Given the description of an element on the screen output the (x, y) to click on. 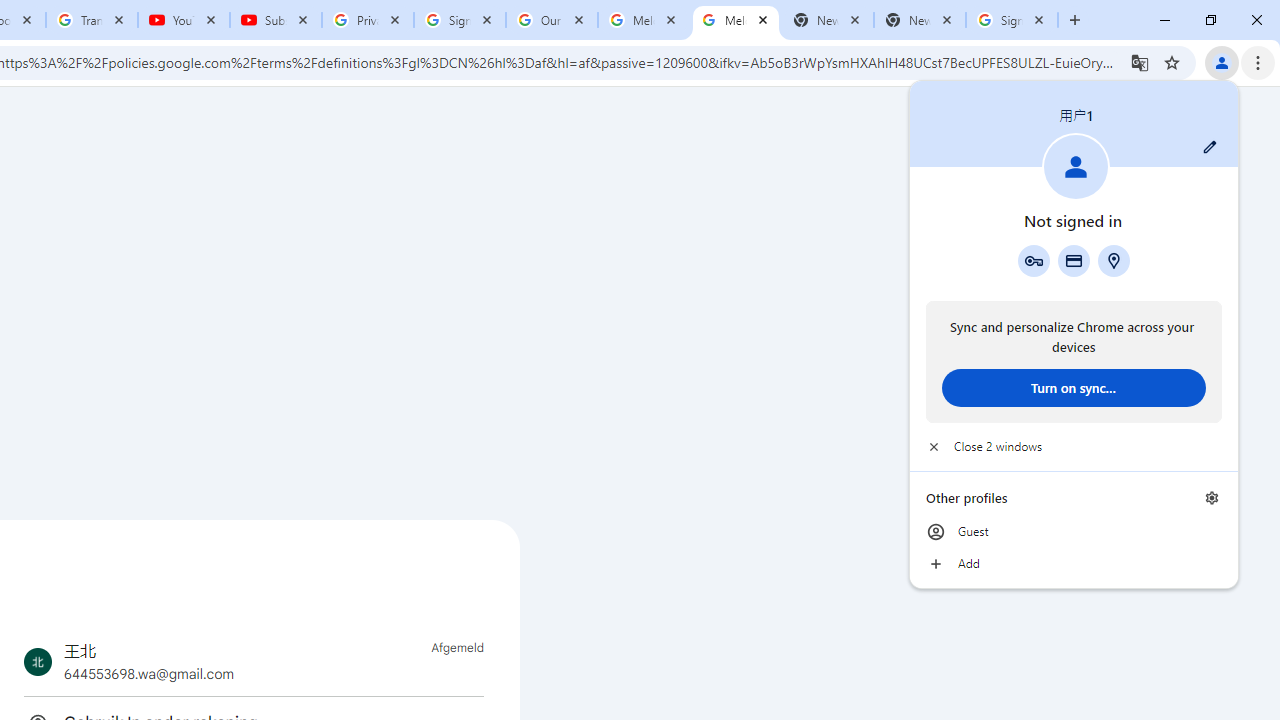
Add (1073, 563)
New Tab (920, 20)
Payment methods (1074, 260)
Sign in - Google Accounts (1012, 20)
Translate this page (1139, 62)
